Given the description of an element on the screen output the (x, y) to click on. 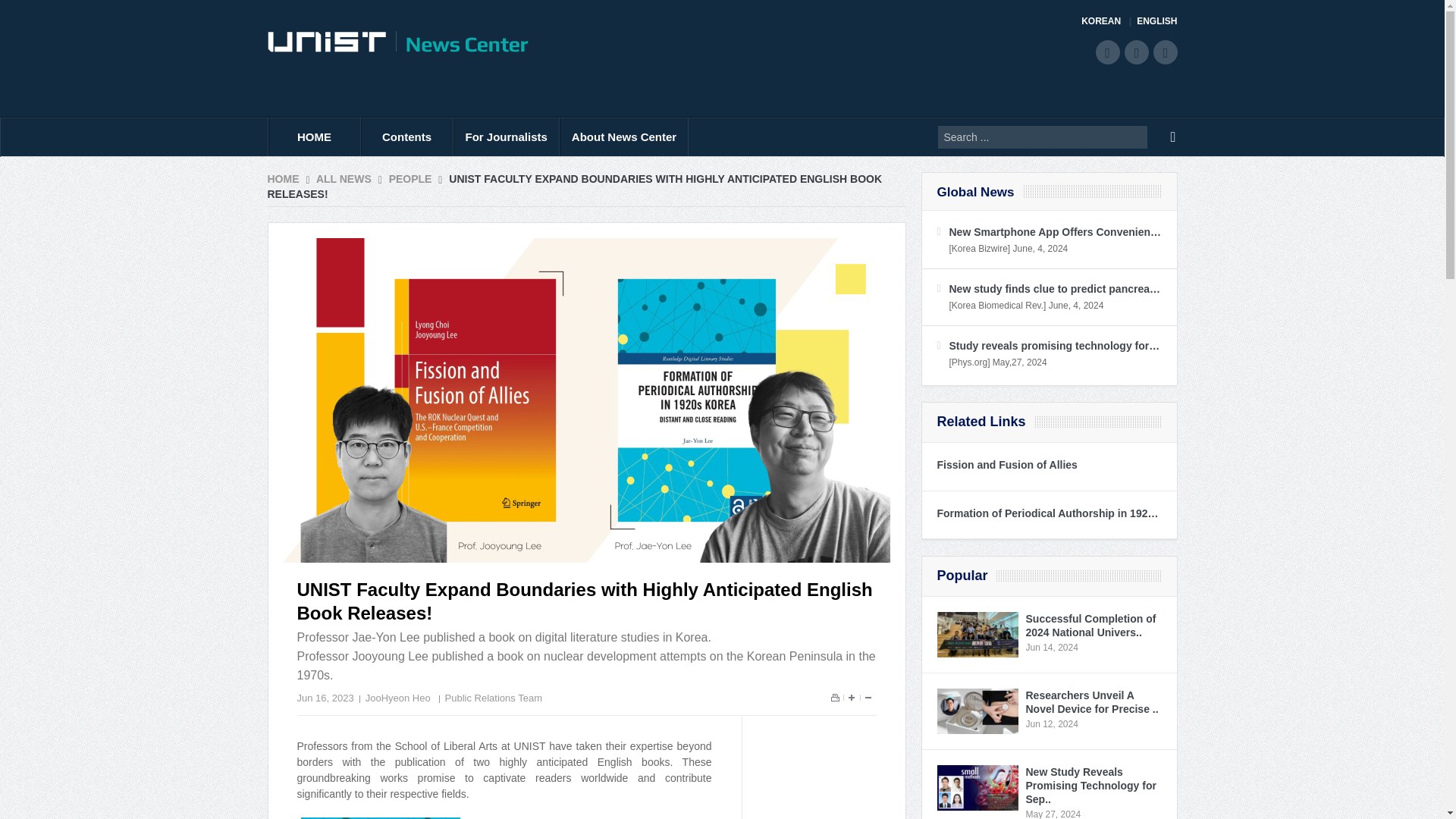
KOREAN (1105, 21)
Contents (406, 136)
HOME (313, 136)
ENGLISH (1156, 21)
